Given the description of an element on the screen output the (x, y) to click on. 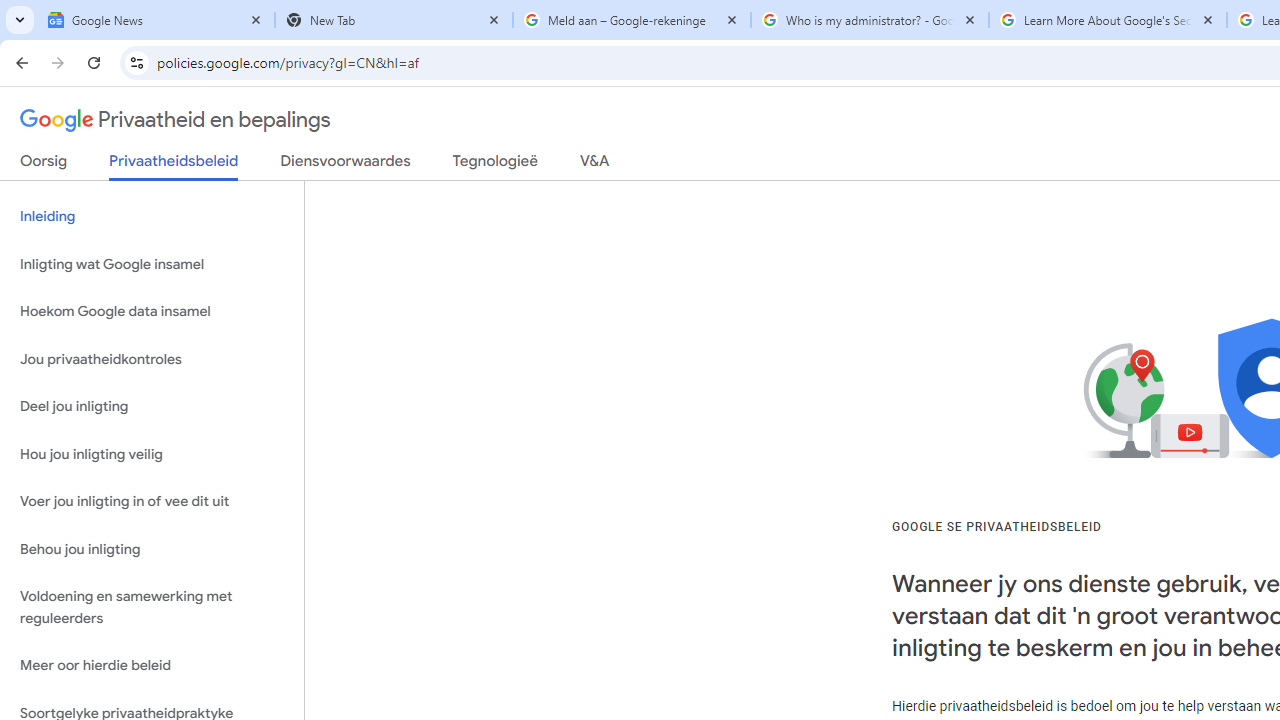
Inligting wat Google insamel (152, 263)
Privaatheid en bepalings (175, 120)
Hoekom Google data insamel (152, 312)
Behou jou inligting (152, 548)
Meer oor hierdie beleid (152, 666)
V&A (594, 165)
Voer jou inligting in of vee dit uit (152, 502)
Oorsig (43, 165)
Hou jou inligting veilig (152, 453)
